Given the description of an element on the screen output the (x, y) to click on. 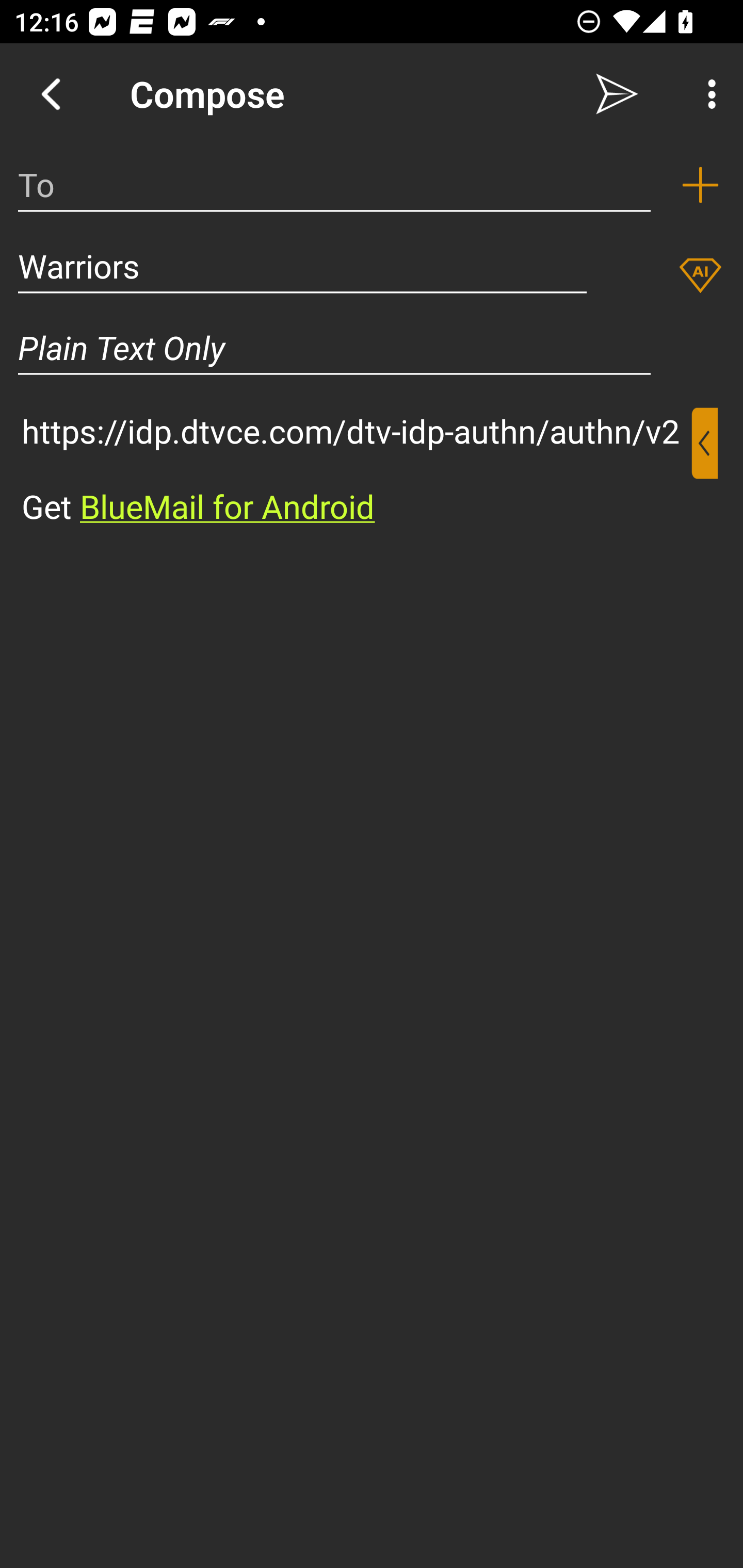
Navigate up (50, 93)
Send (616, 93)
More Options (706, 93)
To (334, 184)
Add recipient (To) (699, 184)
Warriors (302, 266)
Plain Text Only (371, 347)
